Given the description of an element on the screen output the (x, y) to click on. 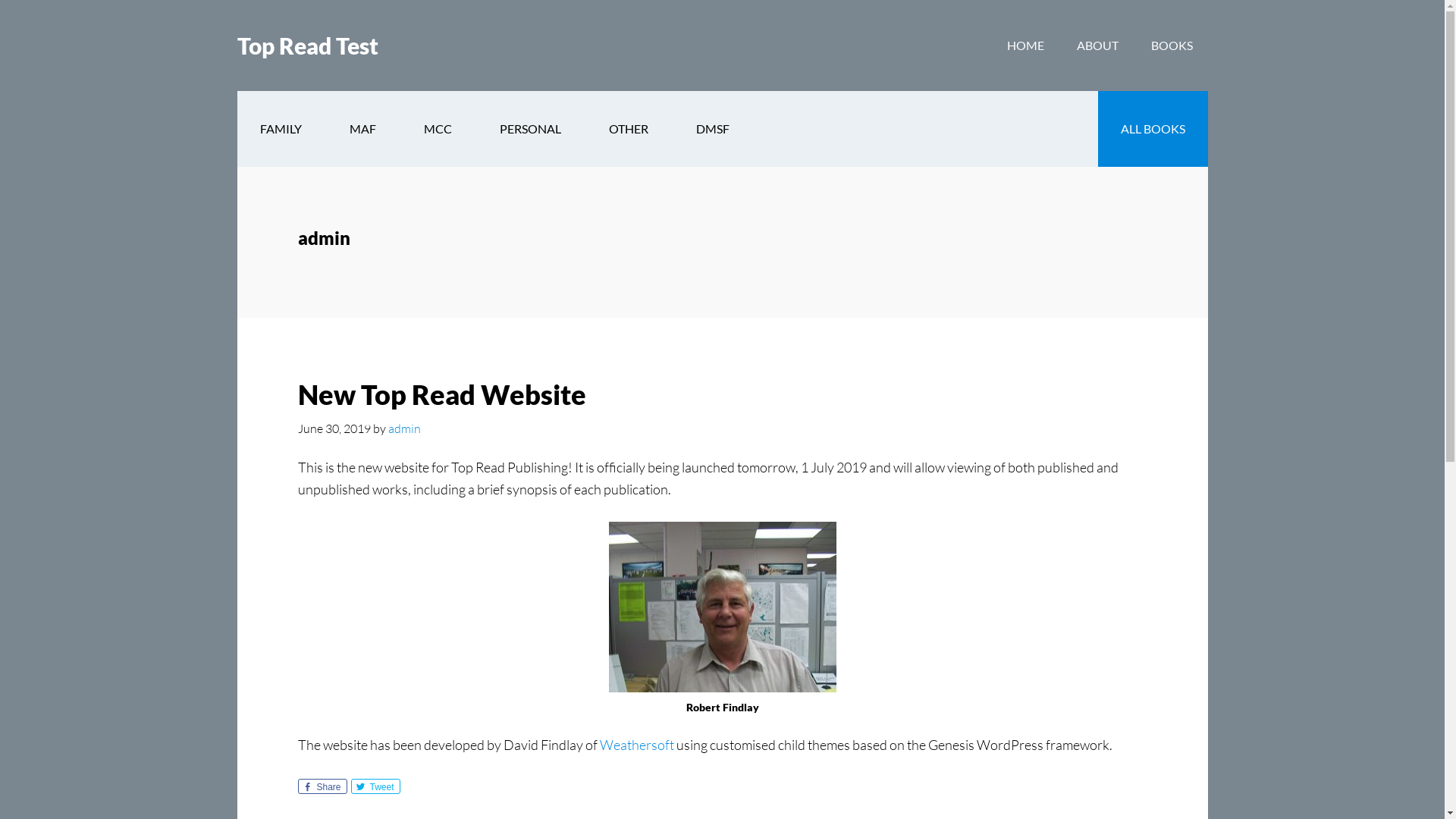
MCC Element type: text (436, 128)
Skip to content Element type: text (0, 0)
ALL BOOKS Element type: text (1153, 128)
OTHER Element type: text (627, 128)
BOOKS Element type: text (1171, 45)
MAF Element type: text (362, 128)
Share Element type: text (321, 785)
ABOUT Element type: text (1097, 45)
Weathersoft Element type: text (636, 744)
FAMILY Element type: text (279, 128)
PERSONAL Element type: text (529, 128)
DMSF Element type: text (712, 128)
Tweet Element type: text (374, 785)
New Top Read Website Element type: text (441, 394)
HOME Element type: text (1025, 45)
admin Element type: text (404, 428)
Top Read Test Element type: text (306, 45)
